Given the description of an element on the screen output the (x, y) to click on. 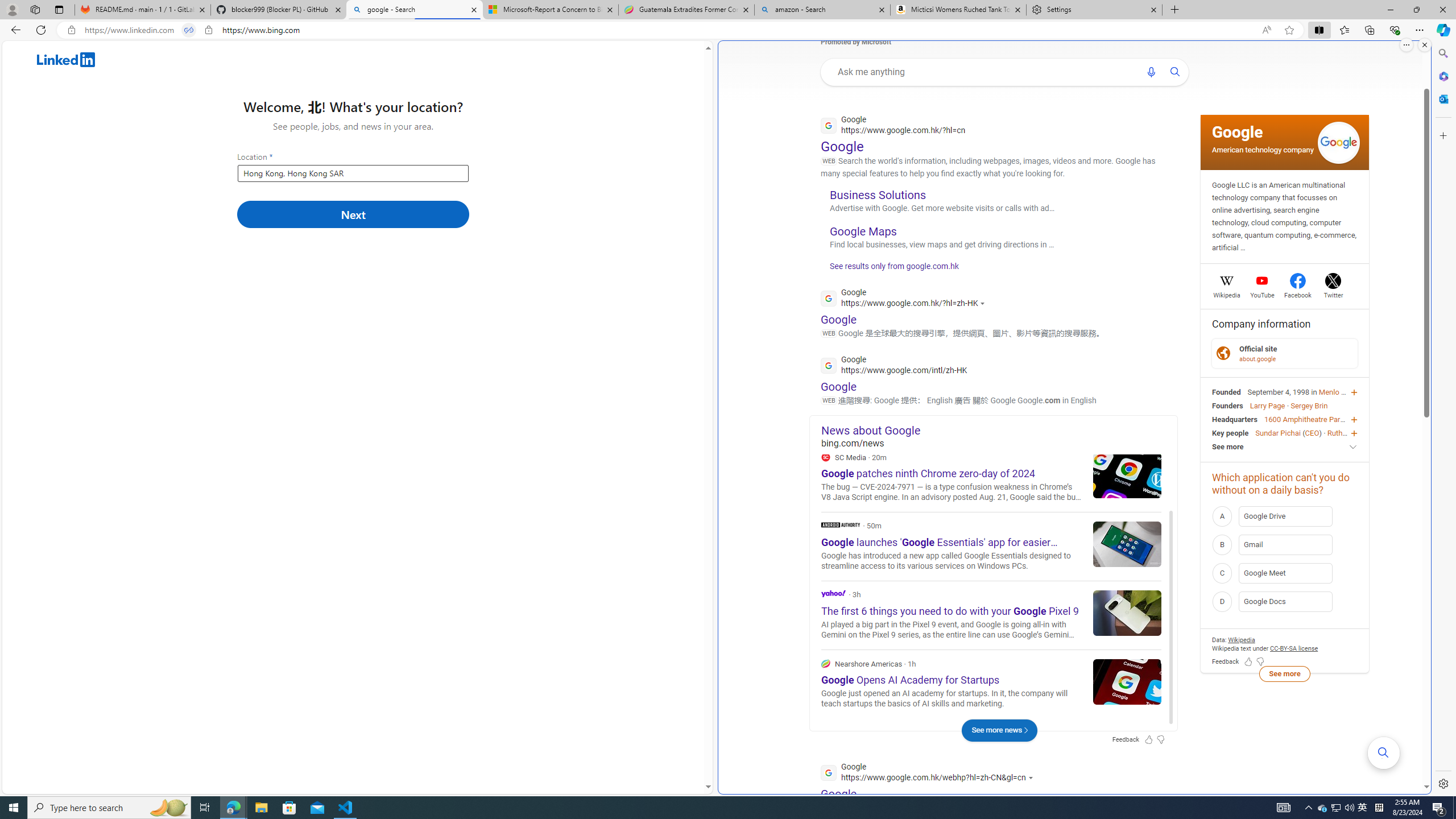
Yahoo (991, 614)
B Gmail (1283, 544)
